Given the description of an element on the screen output the (x, y) to click on. 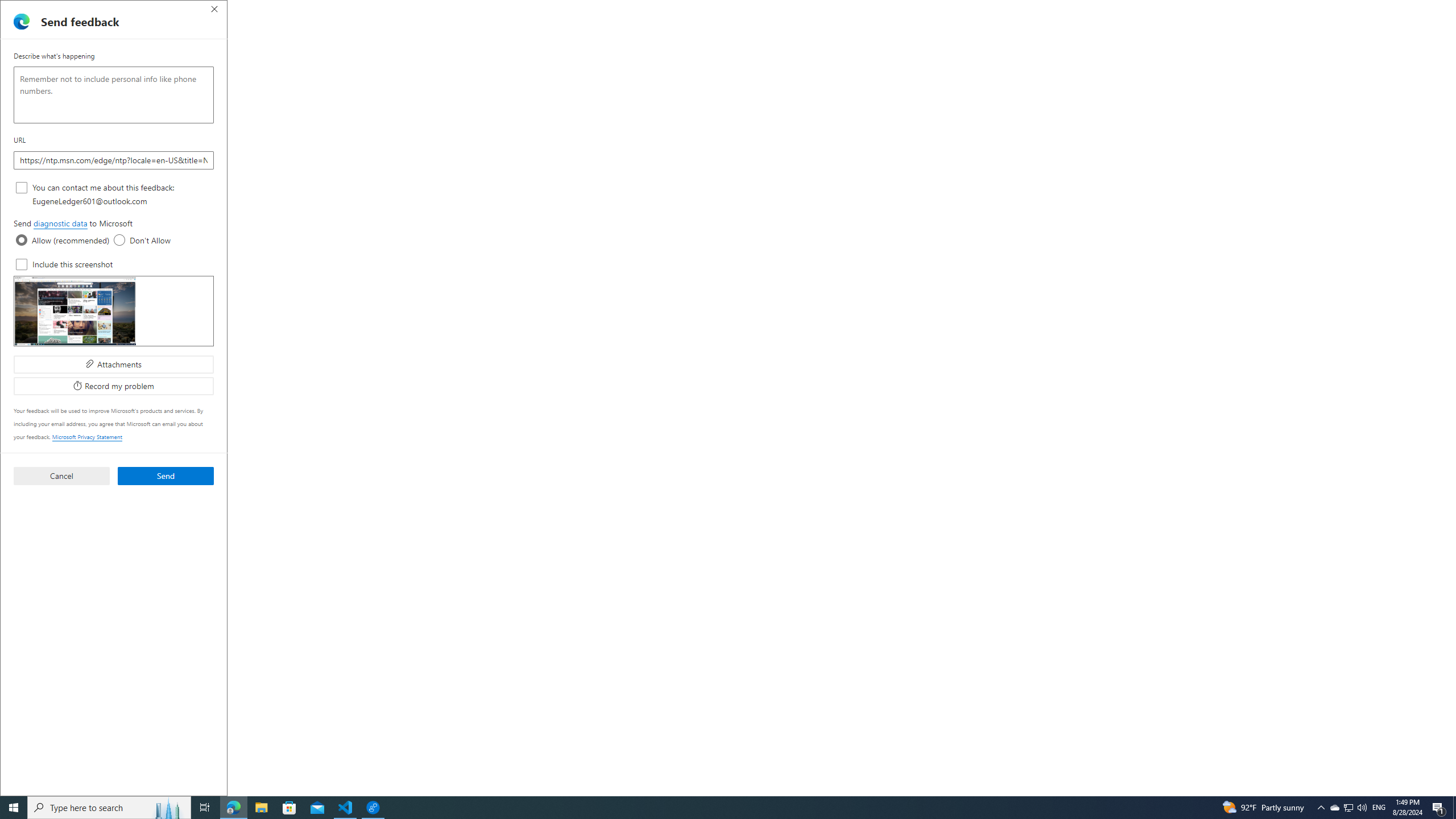
Privacy settings (577, 54)
How to access and control your personal data (395, 428)
Privacy dashboard (447, 54)
Enter Immersive Reader (F9) (1291, 29)
Privacy Statement (645, 54)
Windows (289, 663)
Learn More about Personal data we collect (560, 696)
Settings and more (Alt+F) (1419, 29)
AI Voice Changer for PC and Mac - Voice.ai (316, 9)
Top of page (569, 713)
Copilot (863, 9)
Microsoft account (395, 488)
